Given the description of an element on the screen output the (x, y) to click on. 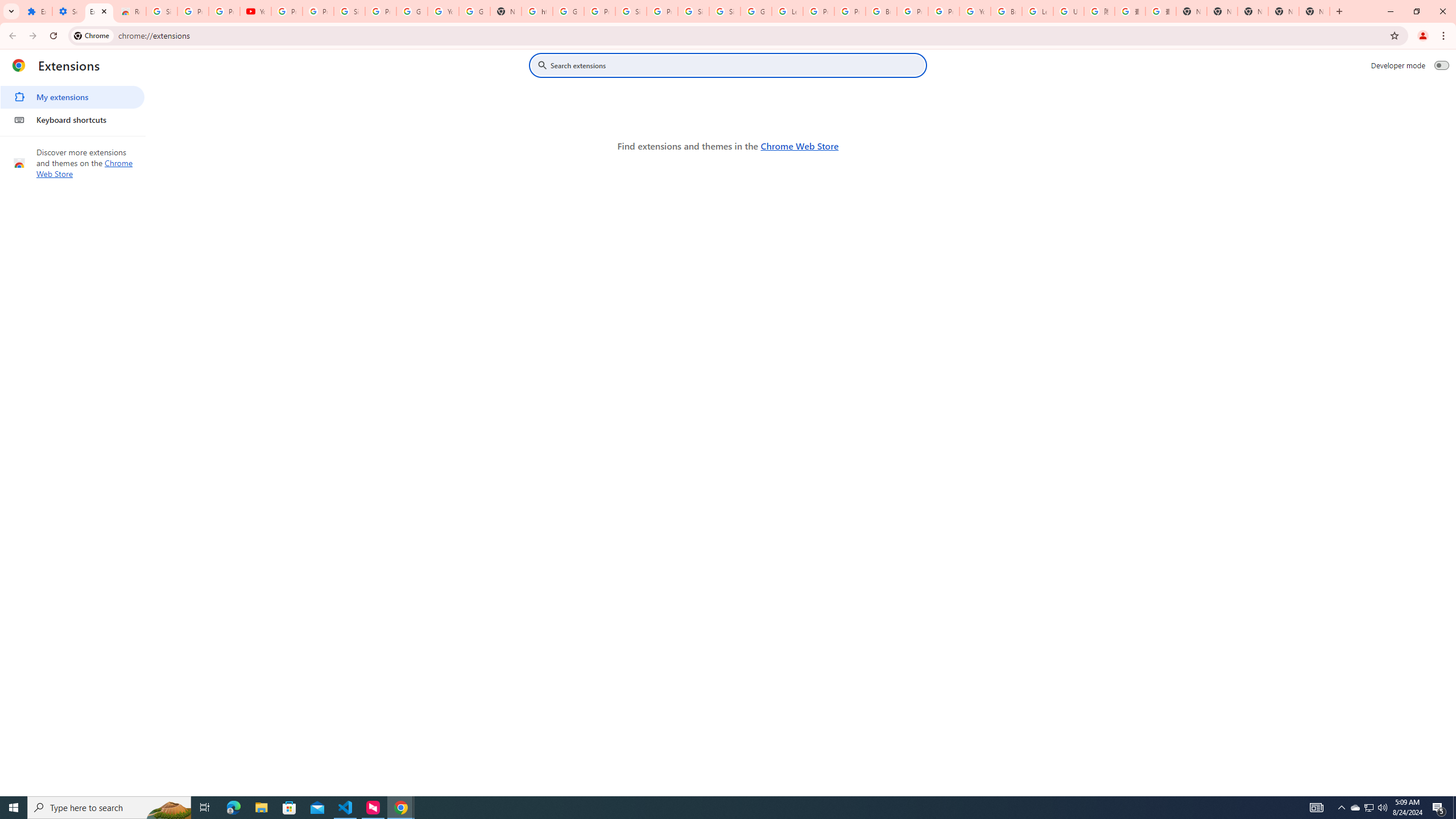
My extensions (72, 96)
Extensions (98, 11)
Search extensions (735, 65)
Sign in - Google Accounts (161, 11)
YouTube (255, 11)
Privacy Help Center - Policies Help (849, 11)
